Given the description of an element on the screen output the (x, y) to click on. 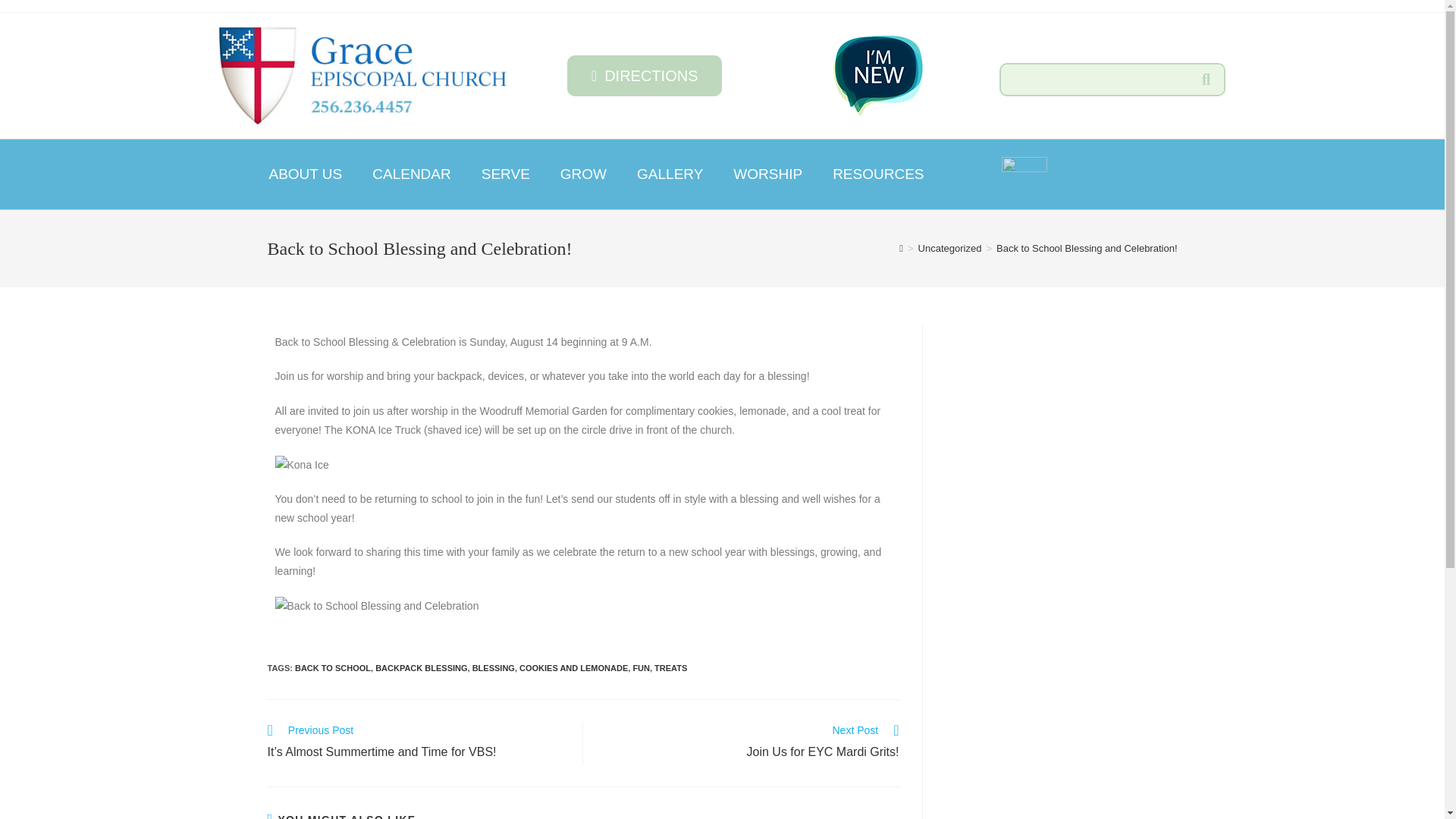
GALLERY (669, 174)
ABOUT US (304, 174)
RESOURCES (877, 174)
SERVE (504, 174)
CALENDAR (410, 174)
WORSHIP (766, 174)
GROW (582, 174)
DIRECTIONS (644, 75)
